Given the description of an element on the screen output the (x, y) to click on. 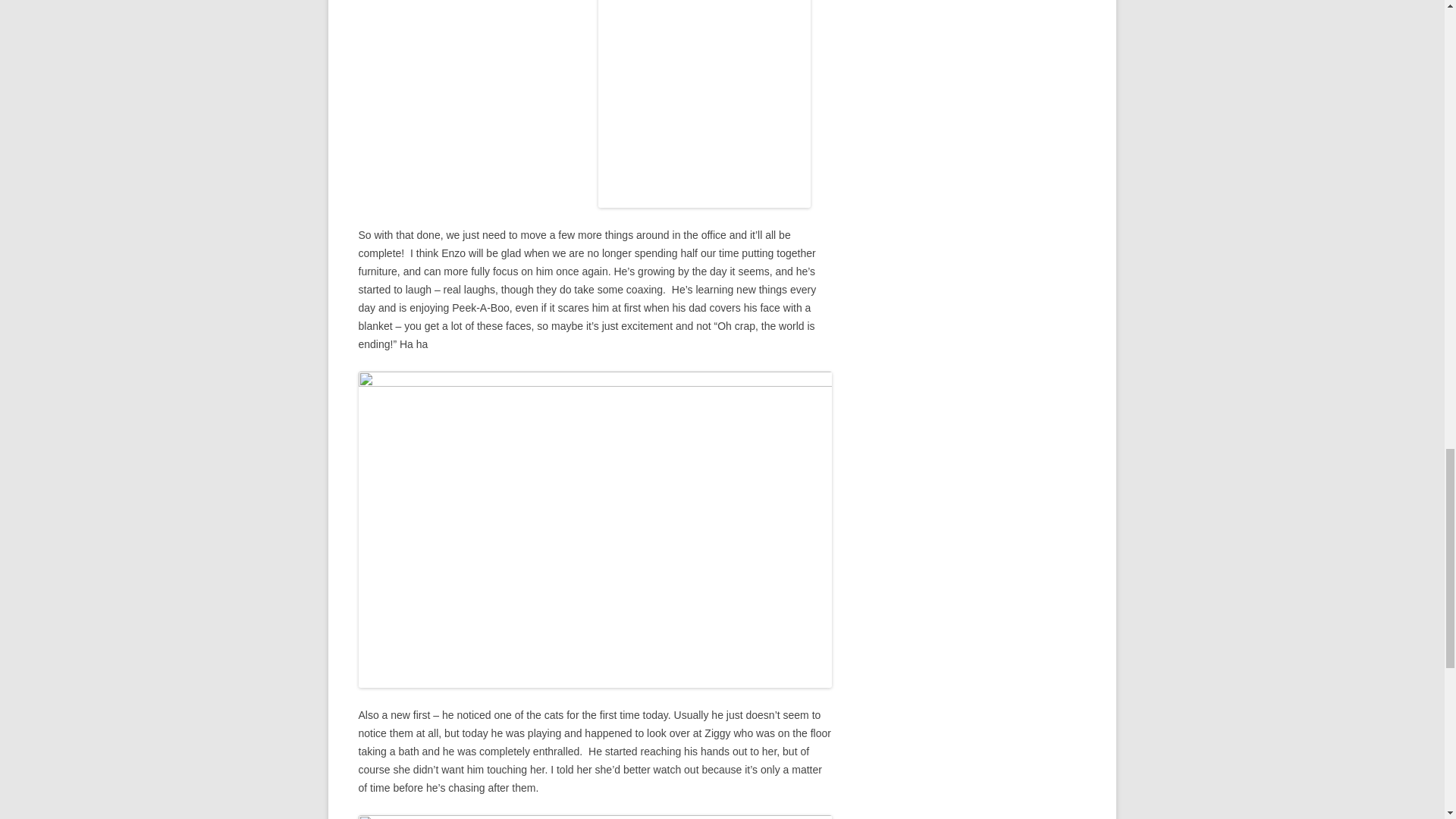
Bedroom A4 (704, 104)
